Given the description of an element on the screen output the (x, y) to click on. 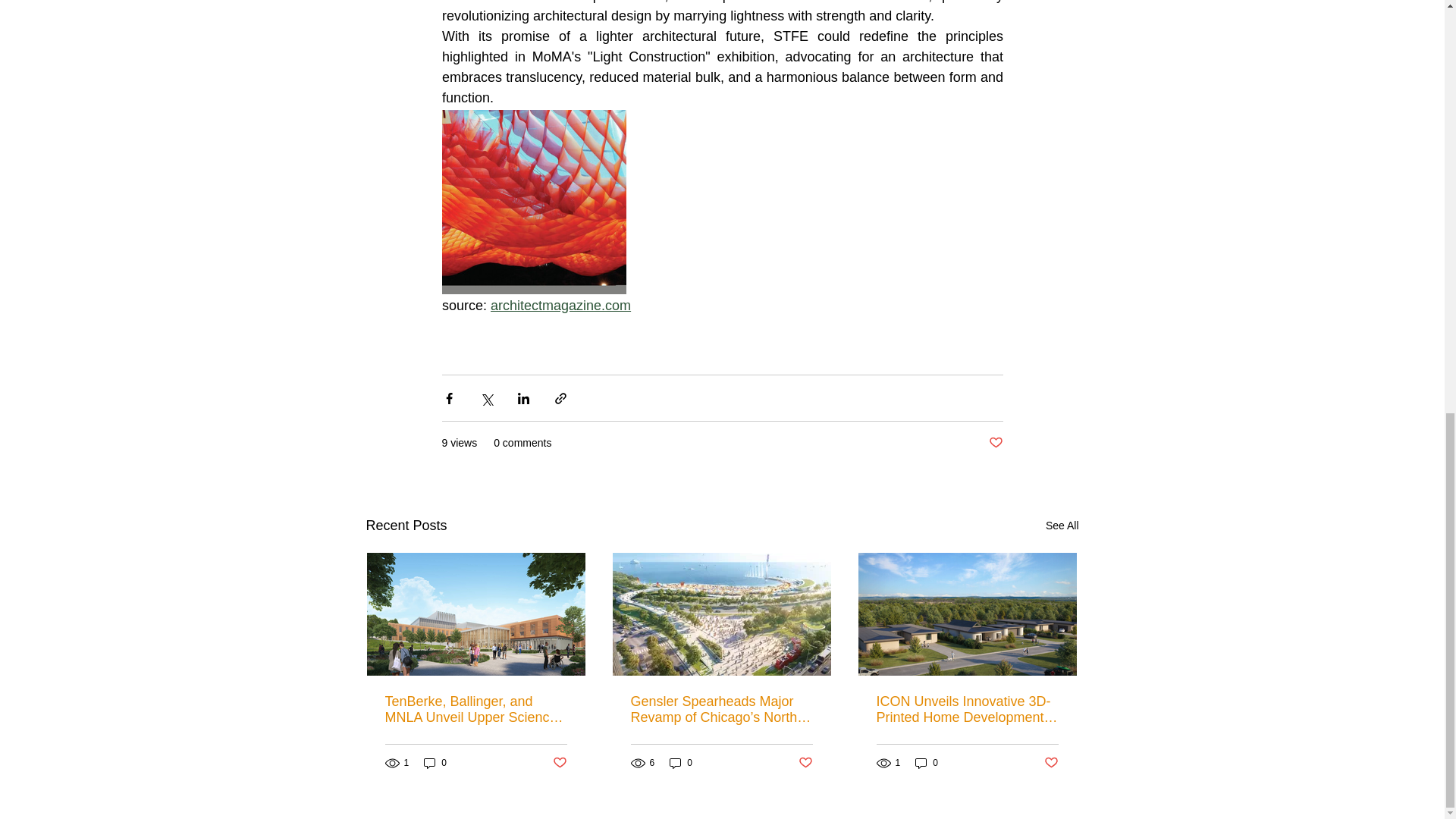
Post not marked as liked (995, 442)
Post not marked as liked (804, 762)
Post not marked as liked (1050, 762)
See All (1061, 526)
architectmagazine.com (560, 305)
Post not marked as liked (558, 762)
0 (926, 762)
0 (681, 762)
